Given the description of an element on the screen output the (x, y) to click on. 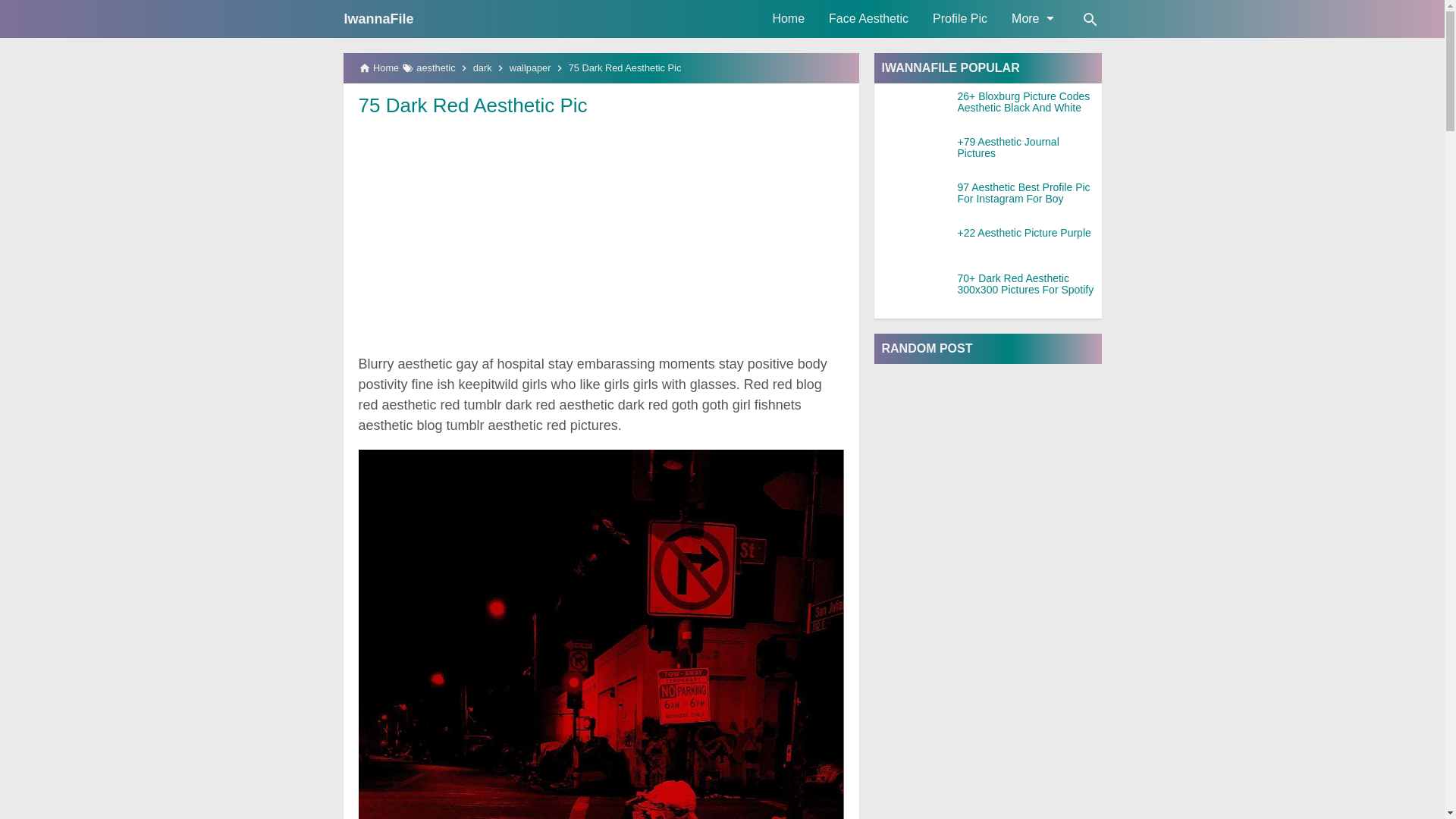
IwannaFile (378, 18)
aesthetic (435, 68)
97 Aesthetic Best Profile Pic For Instagram For Boy (1028, 193)
wallpaper (530, 68)
75 Dark Red Aesthetic Pic (472, 105)
More (1030, 18)
aesthetic (435, 68)
Advertisement (600, 233)
Profile Pic (959, 18)
wallpaper (530, 68)
Home (788, 18)
Face Aesthetic (868, 18)
Home (788, 18)
IwannaFile (378, 18)
75 Dark Red Aesthetic Pic (472, 105)
